Given the description of an element on the screen output the (x, y) to click on. 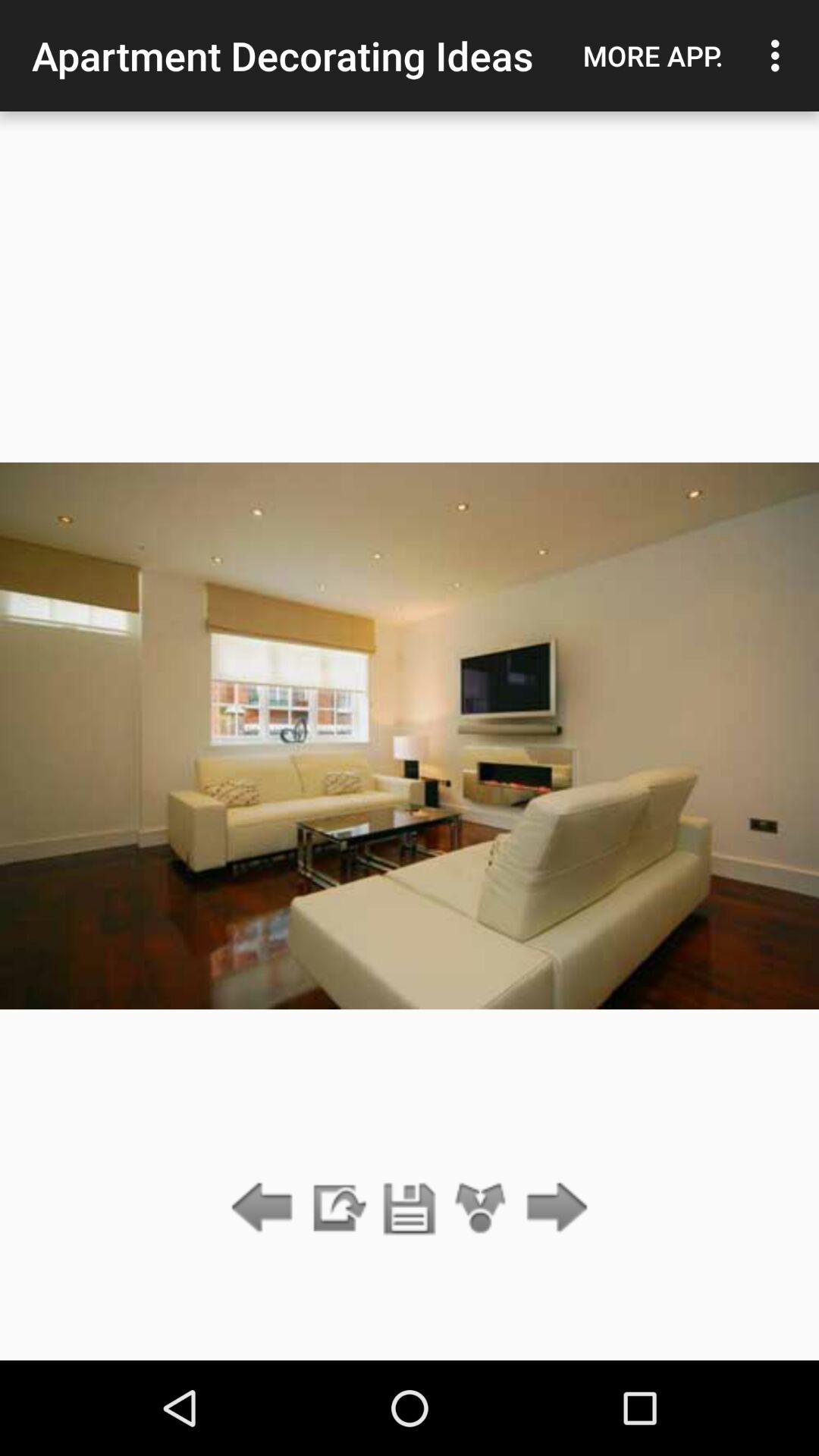
press icon below apartment decorating ideas (480, 1208)
